Given the description of an element on the screen output the (x, y) to click on. 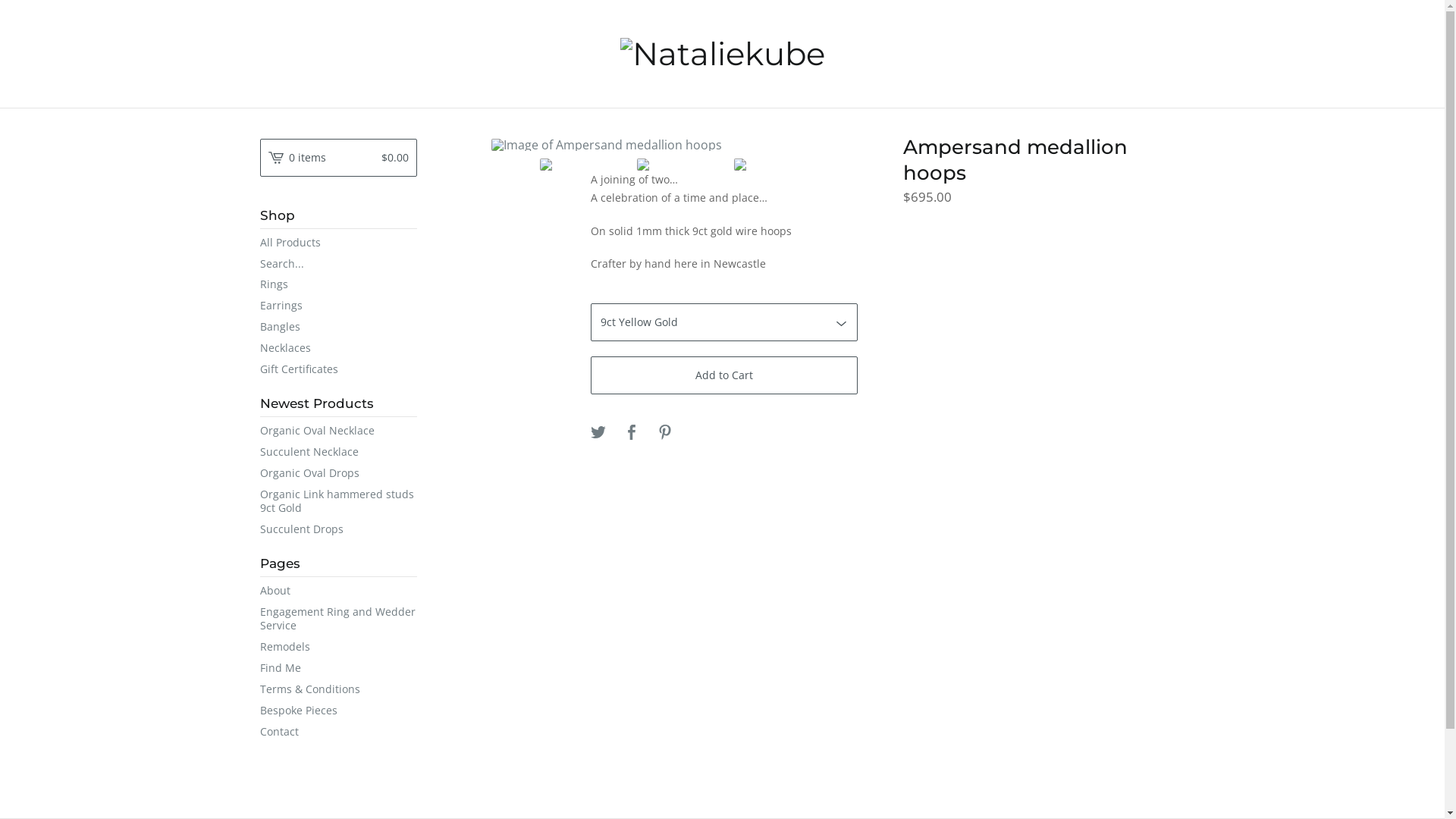
Bespoke Pieces Element type: text (337, 710)
Engagement Ring and Wedder Service Element type: text (337, 618)
Succulent Necklace Element type: text (337, 451)
Find Me Element type: text (337, 667)
Contact Element type: text (337, 731)
Necklaces Element type: text (337, 347)
Bangles Element type: text (337, 326)
0 items
$0.00 Element type: text (337, 157)
Terms & Conditions Element type: text (337, 688)
Tweet Element type: hover (597, 432)
Organic Link hammered studs 9ct Gold Element type: text (337, 500)
Pin Element type: hover (664, 432)
About Element type: text (337, 590)
All Products Element type: text (337, 242)
Remodels Element type: text (337, 646)
Organic Oval Necklace Element type: text (337, 430)
Earrings Element type: text (337, 305)
Rings Element type: text (337, 283)
Add to Cart Element type: text (723, 375)
Succulent Drops Element type: text (337, 528)
Nataliekube Element type: hover (722, 53)
Organic Oval Drops Element type: text (337, 472)
Like or Share Element type: hover (631, 432)
Gift Certificates Element type: text (337, 368)
